Given the description of an element on the screen output the (x, y) to click on. 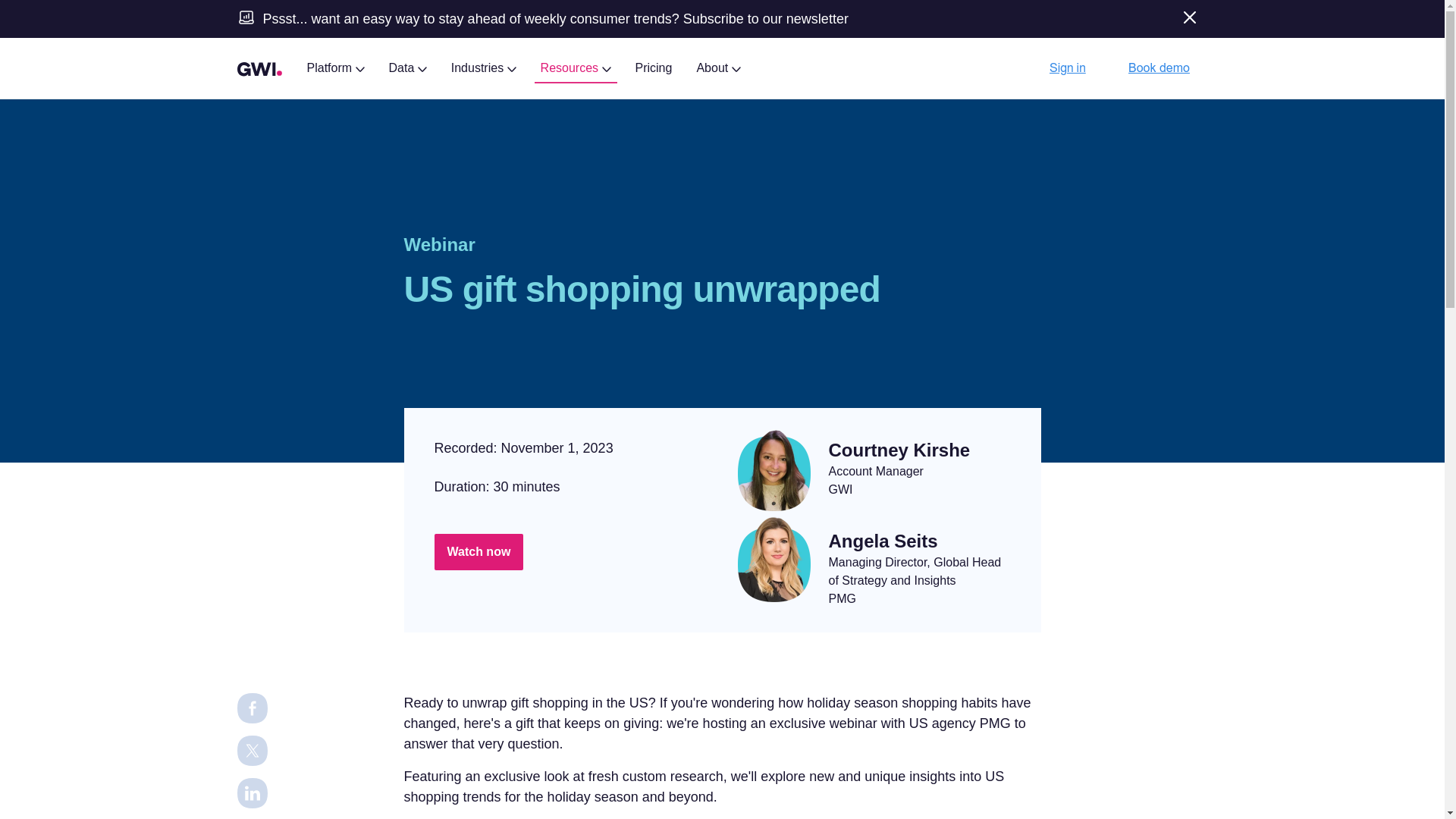
GWI. (258, 67)
Resources (575, 67)
Platform (334, 67)
Industries (483, 67)
